Given the description of an element on the screen output the (x, y) to click on. 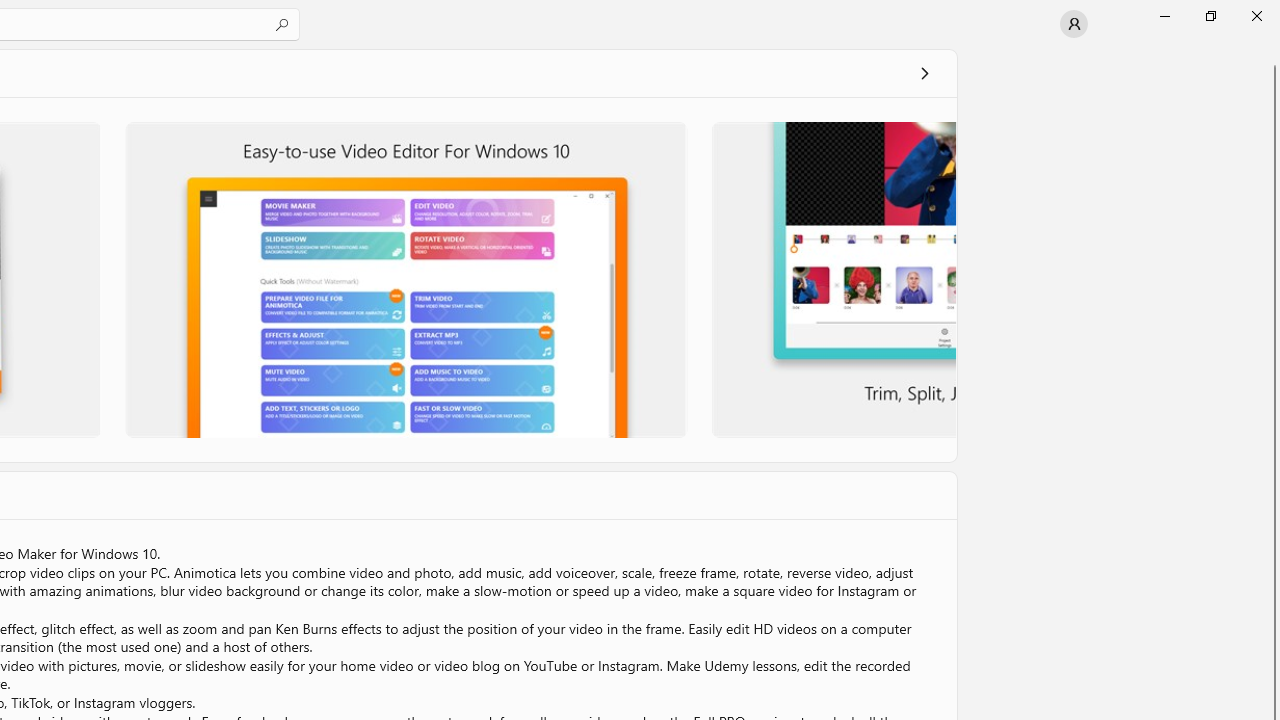
Trim, Split, Join Video and Photo in Animotica (832, 279)
Close Microsoft Store (1256, 15)
See all (924, 72)
Animotica is an easy-to-use video editor for Windows 10 (406, 279)
Minimize Microsoft Store (1164, 15)
Restore Microsoft Store (1210, 15)
User profile (1073, 24)
